Given the description of an element on the screen output the (x, y) to click on. 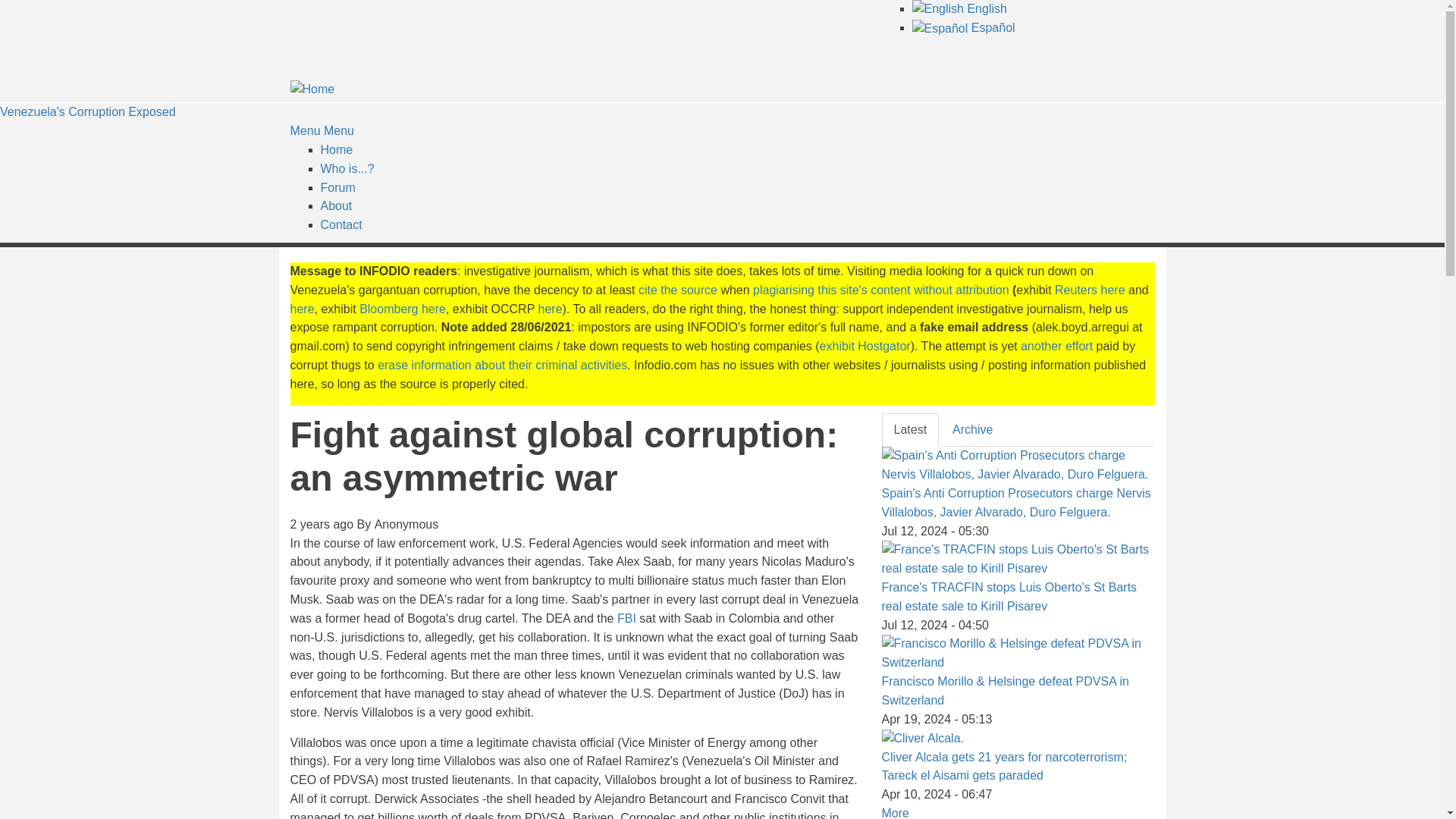
Archive (972, 430)
Forum (337, 187)
Menu (304, 130)
Reuters here (1089, 289)
here (550, 308)
About (336, 205)
English (958, 8)
Contact (340, 224)
Bloomberg here (402, 308)
Venezuela's Corruption Exposed (88, 111)
Home (336, 149)
cite the source (678, 289)
Home (311, 88)
